Given the description of an element on the screen output the (x, y) to click on. 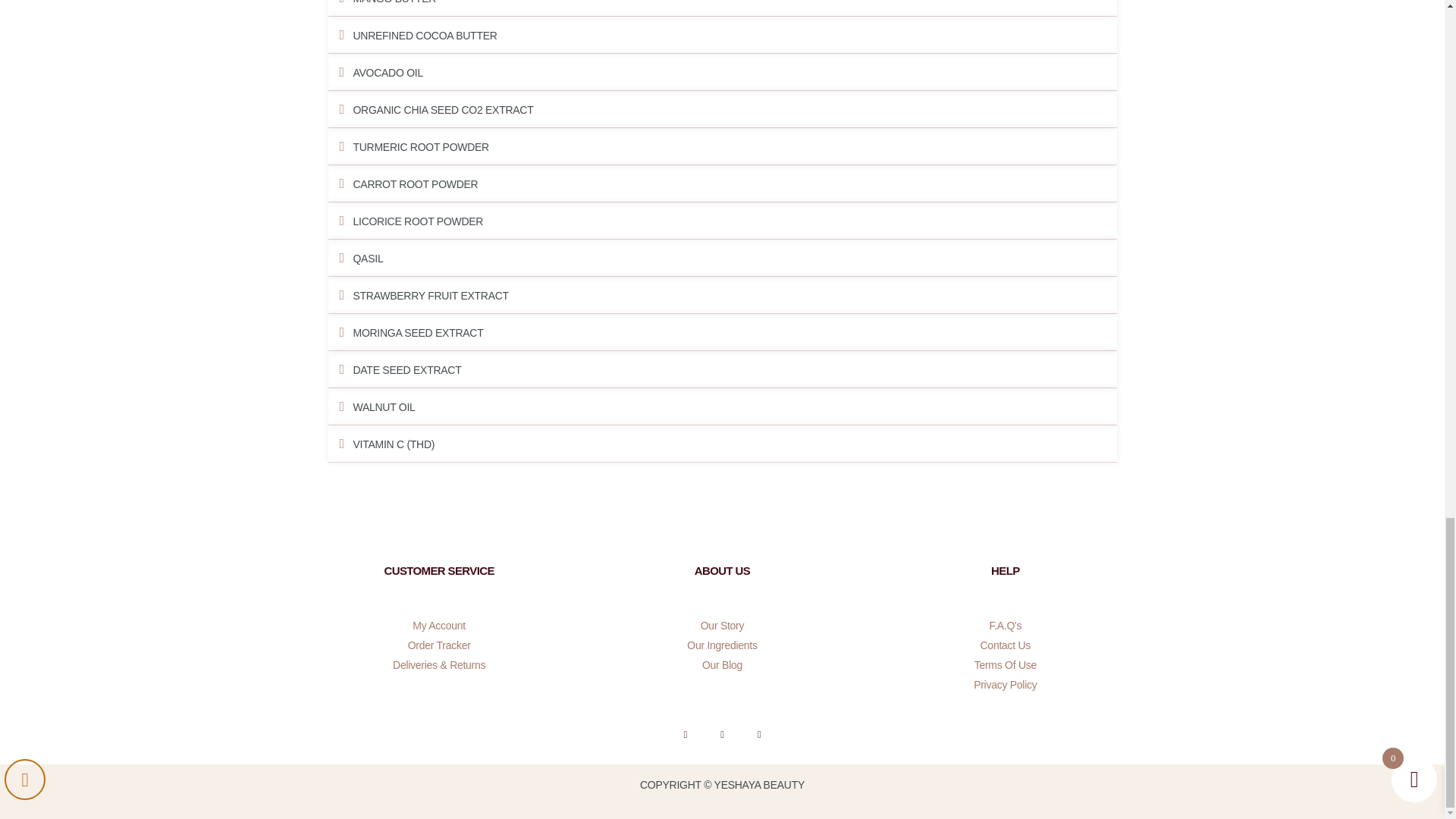
MANGO BUTTER (394, 2)
AVOCADO OIL (388, 72)
UNREFINED COCOA BUTTER (425, 35)
